Given the description of an element on the screen output the (x, y) to click on. 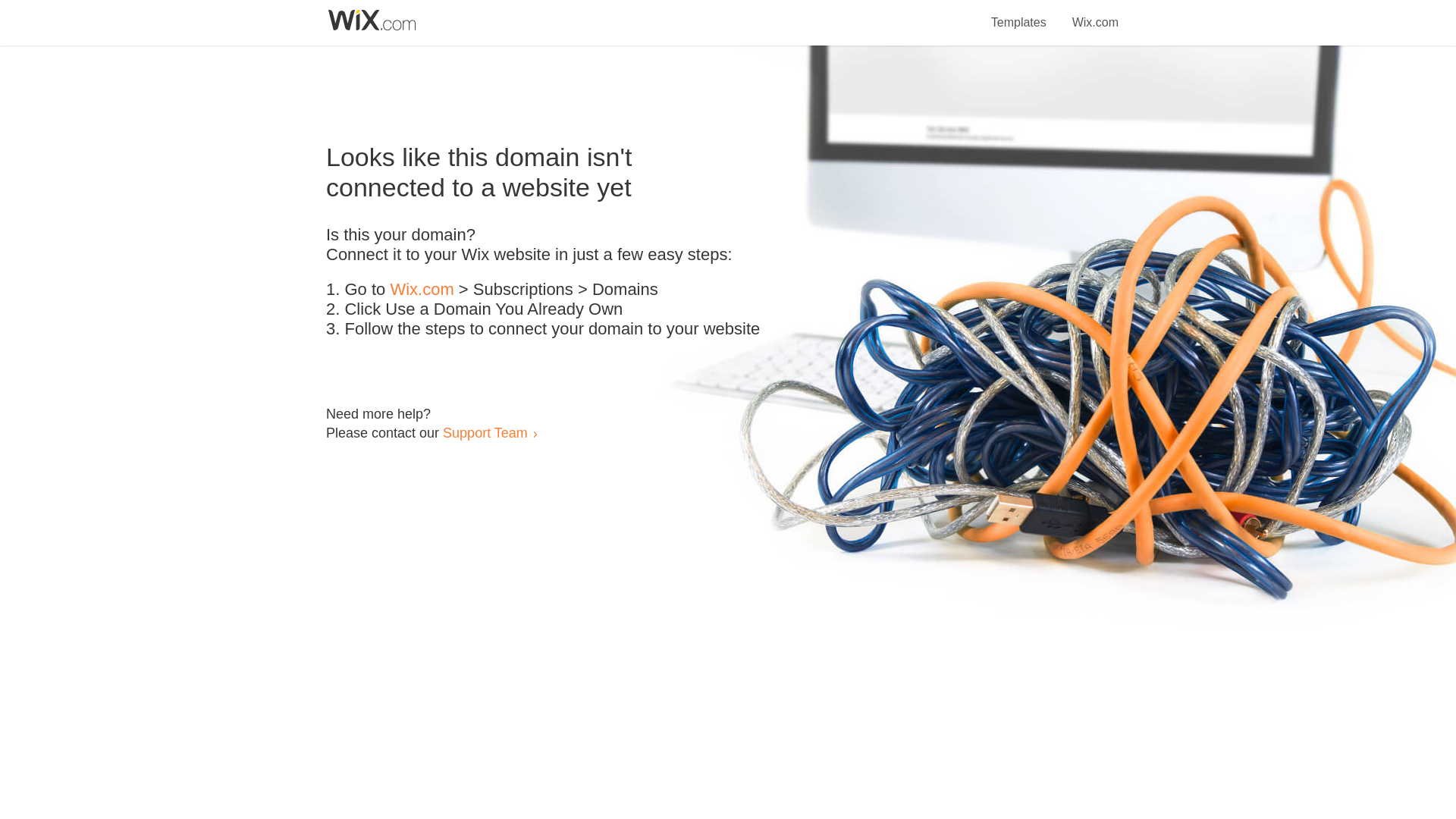
Support Team (484, 432)
Wix.com (1095, 14)
Wix.com (421, 289)
Templates (1018, 14)
